Given the description of an element on the screen output the (x, y) to click on. 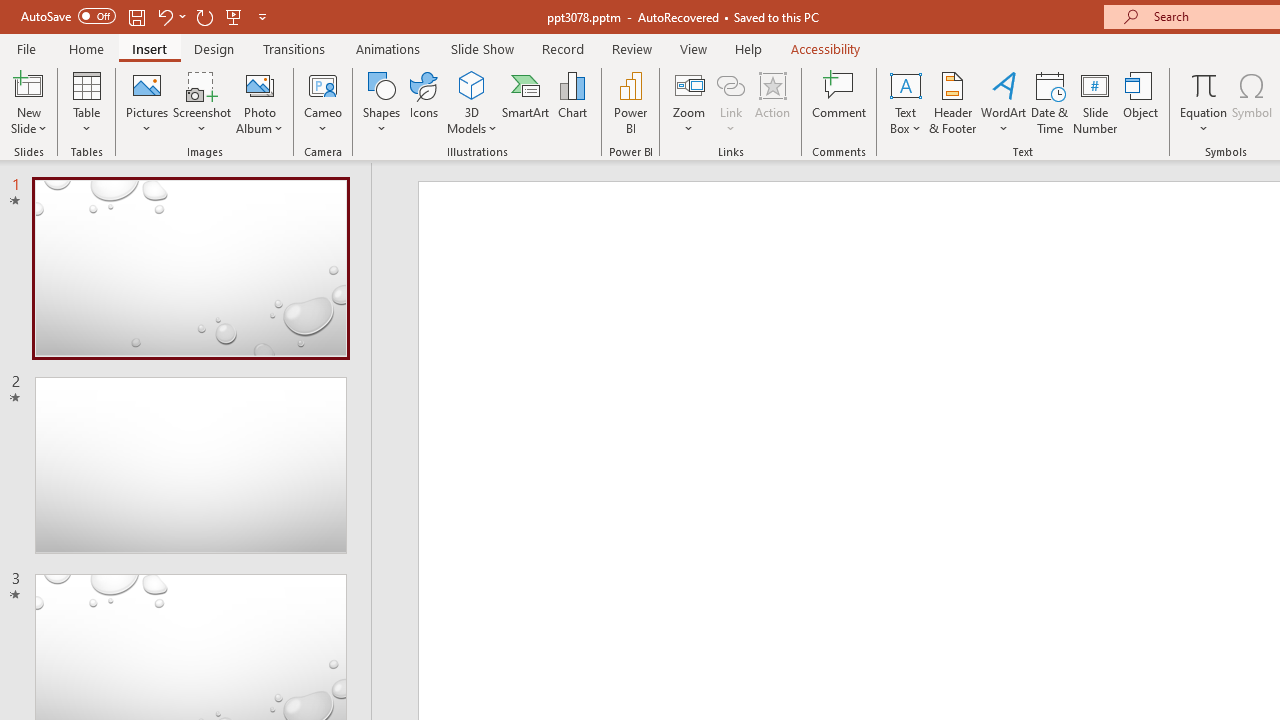
Comment (839, 102)
Chart... (572, 102)
New Photo Album... (259, 84)
